Given the description of an element on the screen output the (x, y) to click on. 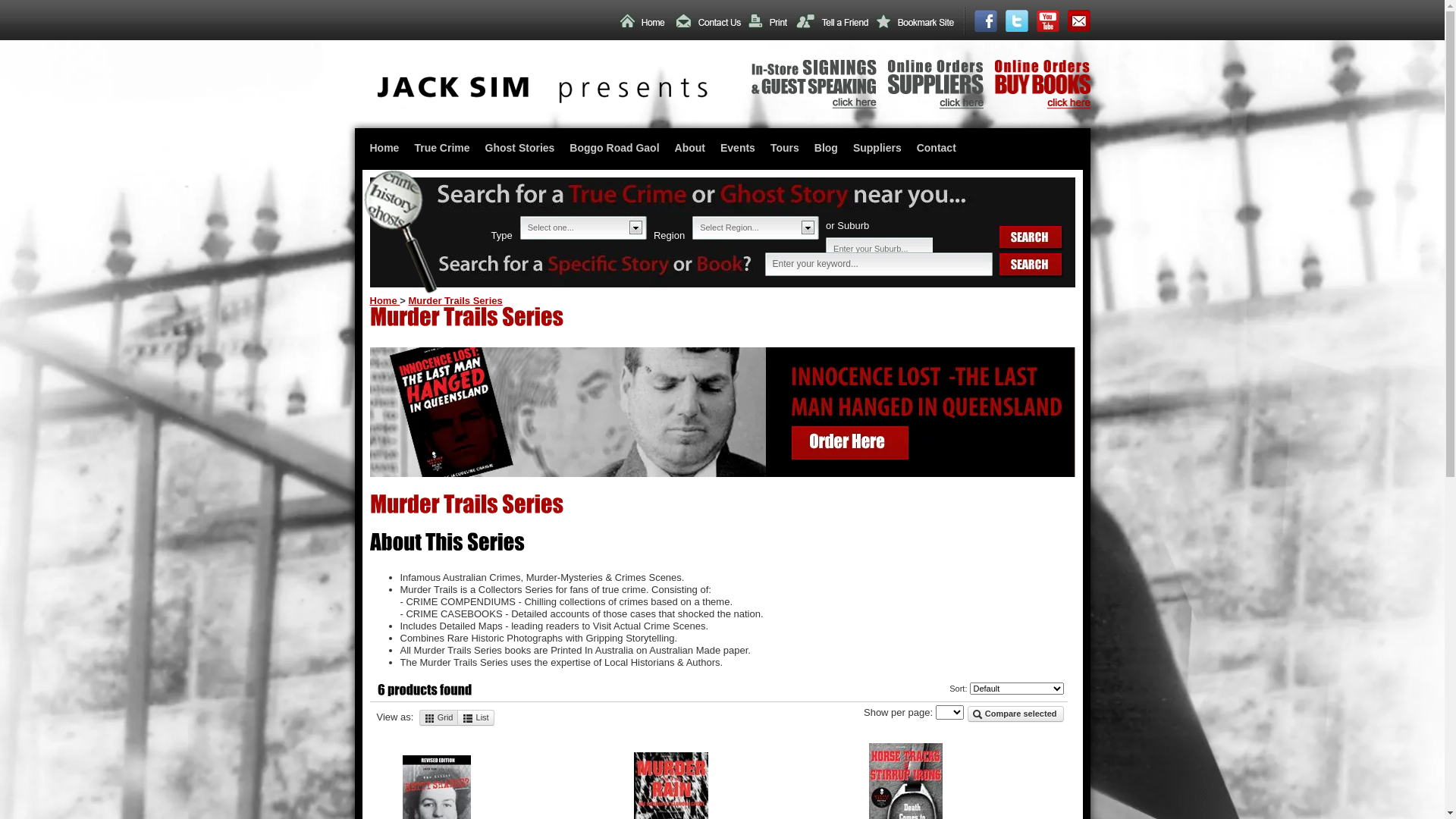
Jack Sim Presents Element type: hover (542, 99)
Ghost Stories Element type: text (519, 148)
Events Element type: text (737, 148)
Blog Element type: text (825, 148)
Search Element type: hover (1030, 265)
Suppliers Element type: text (877, 148)
Online Orders Buy Books Element type: hover (1042, 105)
List Element type: text (475, 717)
Home Element type: text (384, 148)
Search Element type: text (1031, 238)
Murder Trails Series Element type: text (454, 300)
Online Orders Suppliers Element type: hover (934, 105)
Contact Element type: text (936, 148)
About Element type: text (689, 148)
Home Element type: text (385, 300)
True Crime Element type: text (441, 148)
Tours Element type: text (784, 148)
Compare selected Element type: text (1015, 713)
In Store Signings & Guest Speaking Element type: hover (812, 104)
Grid Element type: text (438, 717)
Boggo Road Gaol Element type: text (613, 148)
